Given the description of an element on the screen output the (x, y) to click on. 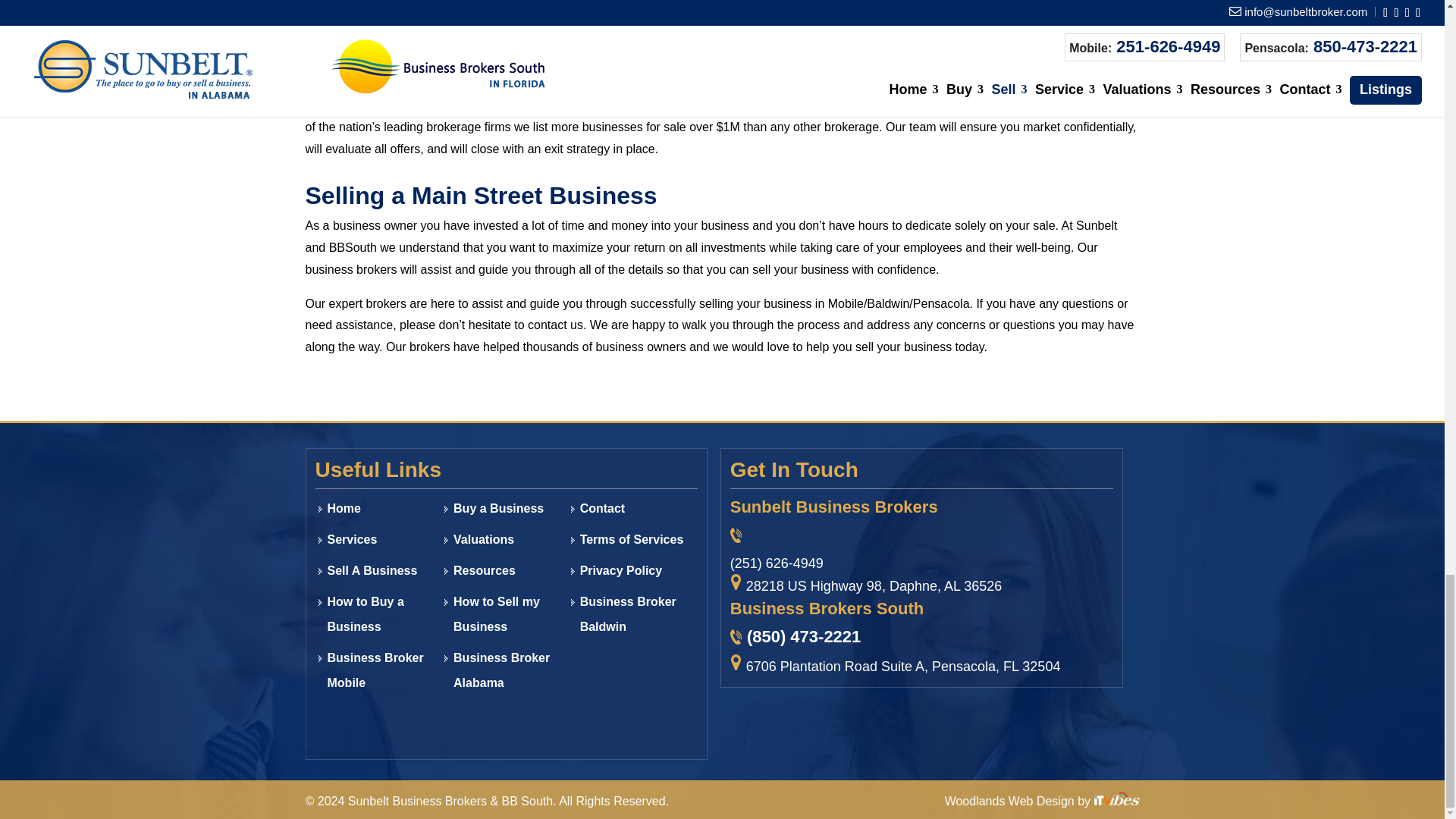
itvibes (1115, 800)
ITVibes (1115, 798)
